Given the description of an element on the screen output the (x, y) to click on. 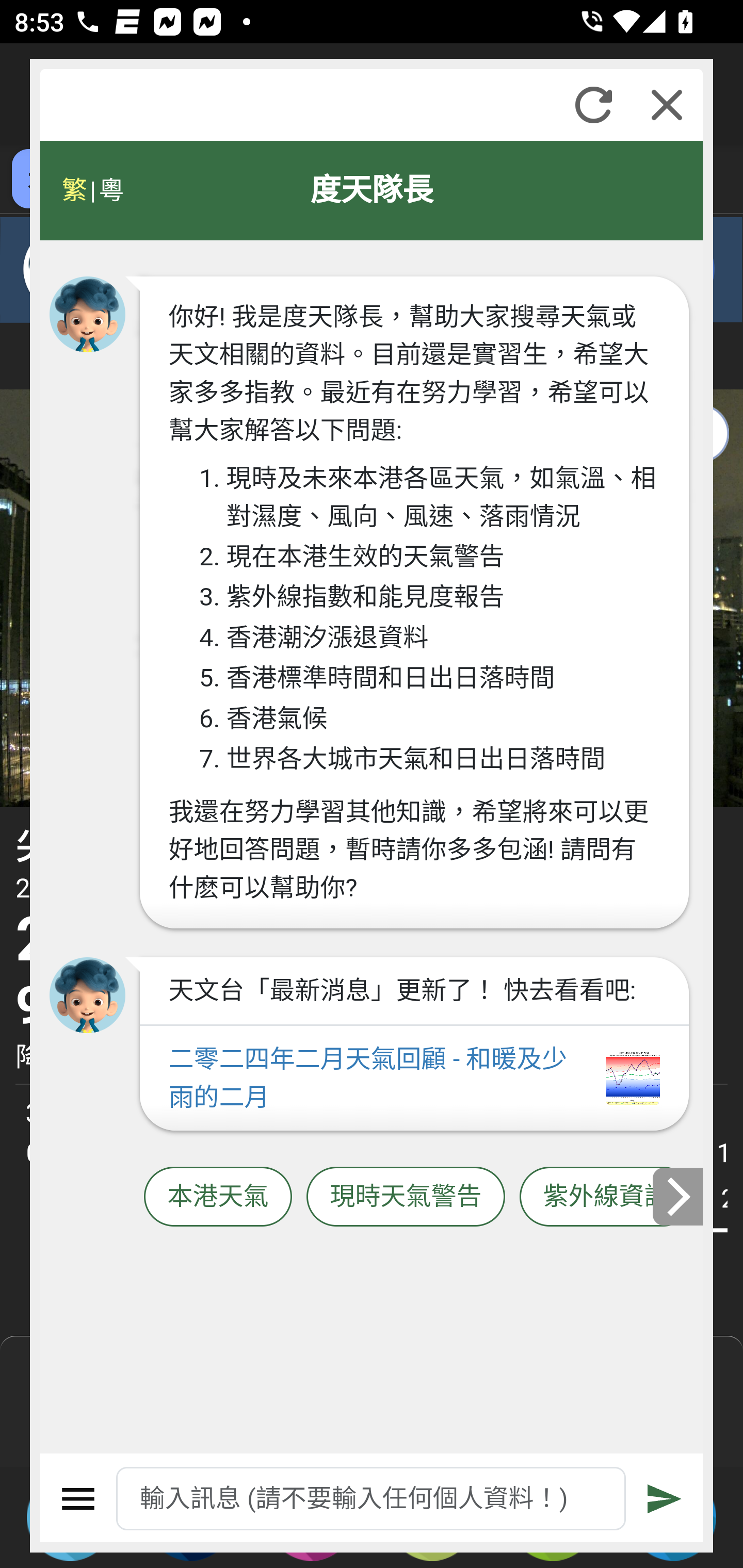
重新整理 (593, 104)
關閉 (666, 104)
繁 (73, 190)
粵 (110, 190)
二零二四年二月天氣回顧 - 和暖及少雨的二月 (413, 1078)
本港天氣 (217, 1196)
現時天氣警告 (405, 1196)
紫外線資訊 (605, 1196)
下一張 (678, 1196)
選單 (78, 1498)
遞交 (665, 1498)
